Given the description of an element on the screen output the (x, y) to click on. 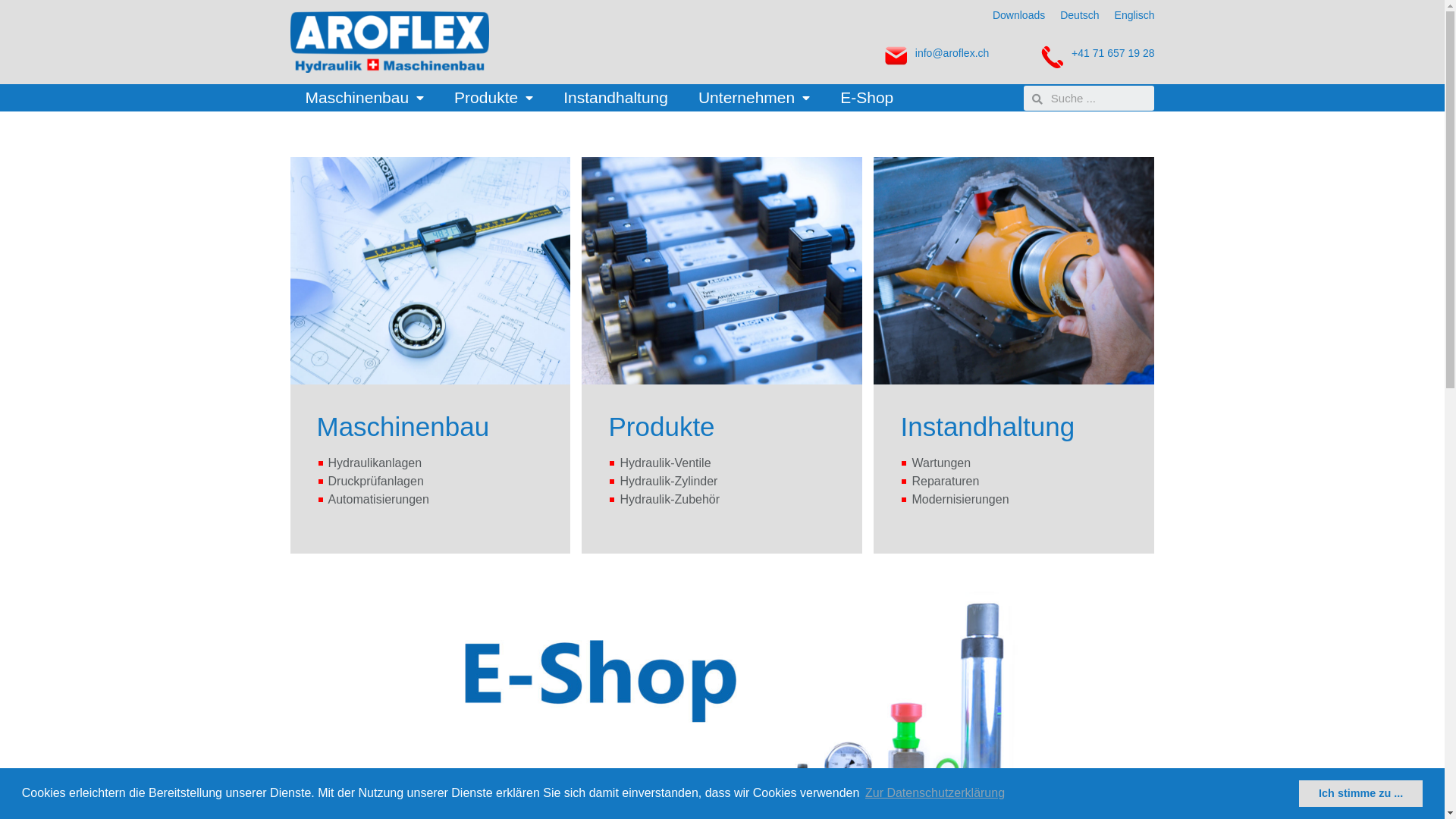
Deutsch Element type: text (1079, 15)
Suche Element type: hover (1098, 97)
Downloads Element type: text (1018, 15)
info@aroflex.ch  Element type: text (322, 796)
Produkte Element type: text (493, 97)
Englisch Element type: text (1134, 15)
Unternehmen Element type: text (754, 97)
Telefon +41 71 657 19 28 Element type: text (412, 796)
Instandhaltung Element type: text (615, 97)
info@aroflex.ch Element type: text (951, 53)
+41 71 657 19 28 Element type: text (1112, 53)
Instandhaltung
Wartungen
Reparaturen
Modernisierungen Element type: text (1013, 354)
Maschinenbau Element type: text (364, 97)
E-Shop Element type: text (866, 97)
Ich stimme zu ... Element type: text (1360, 792)
